Given the description of an element on the screen output the (x, y) to click on. 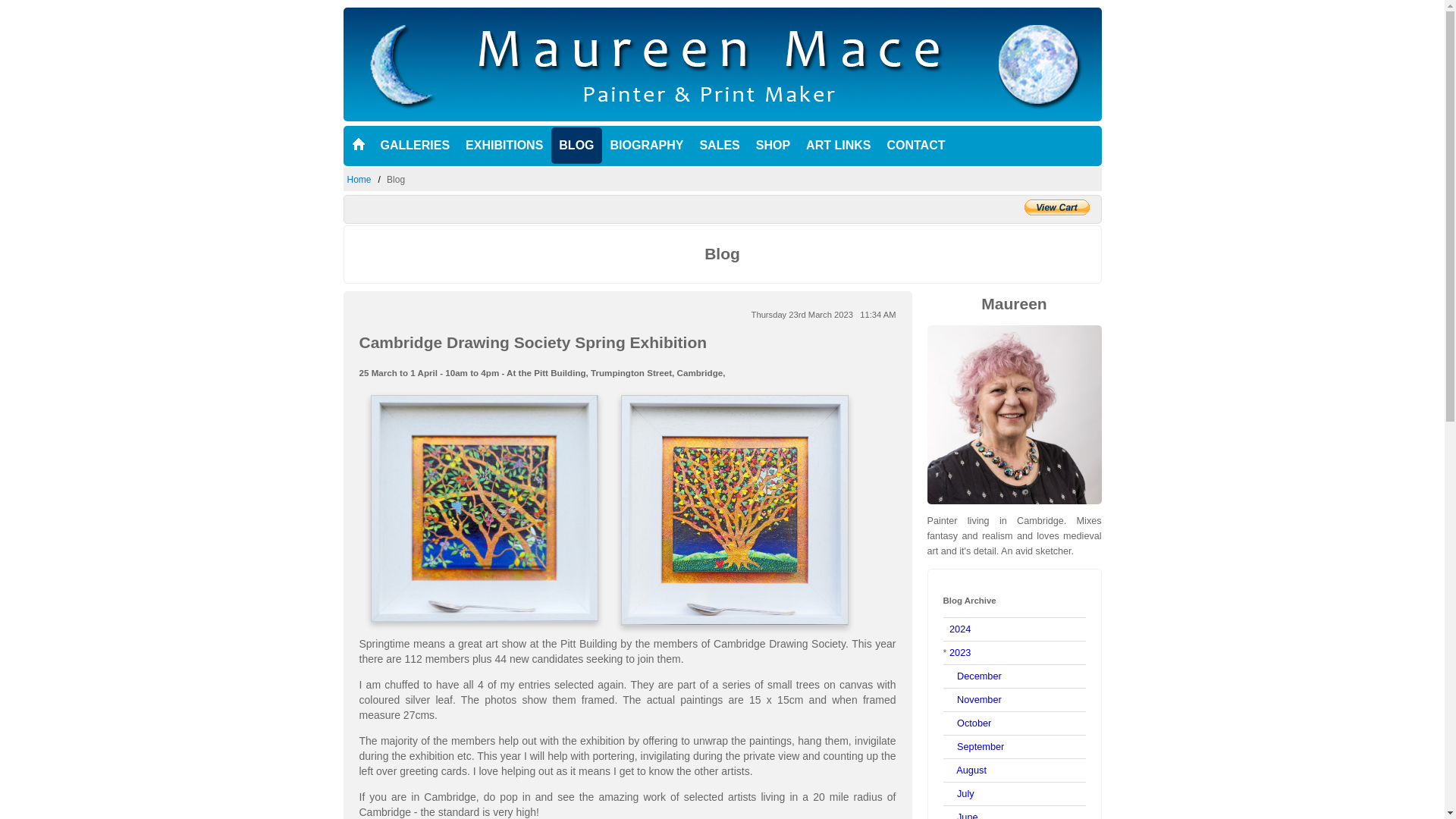
Home (359, 179)
SHOP (772, 145)
SALES (718, 145)
December (978, 675)
GALLERIES (415, 145)
ART LINKS (837, 145)
2024 (960, 628)
2023 (960, 652)
CONTACT (915, 145)
BIOGRAPHY (646, 145)
BLOG (576, 145)
November (978, 699)
EXHIBITIONS (504, 145)
September (980, 746)
October (973, 722)
